Given the description of an element on the screen output the (x, y) to click on. 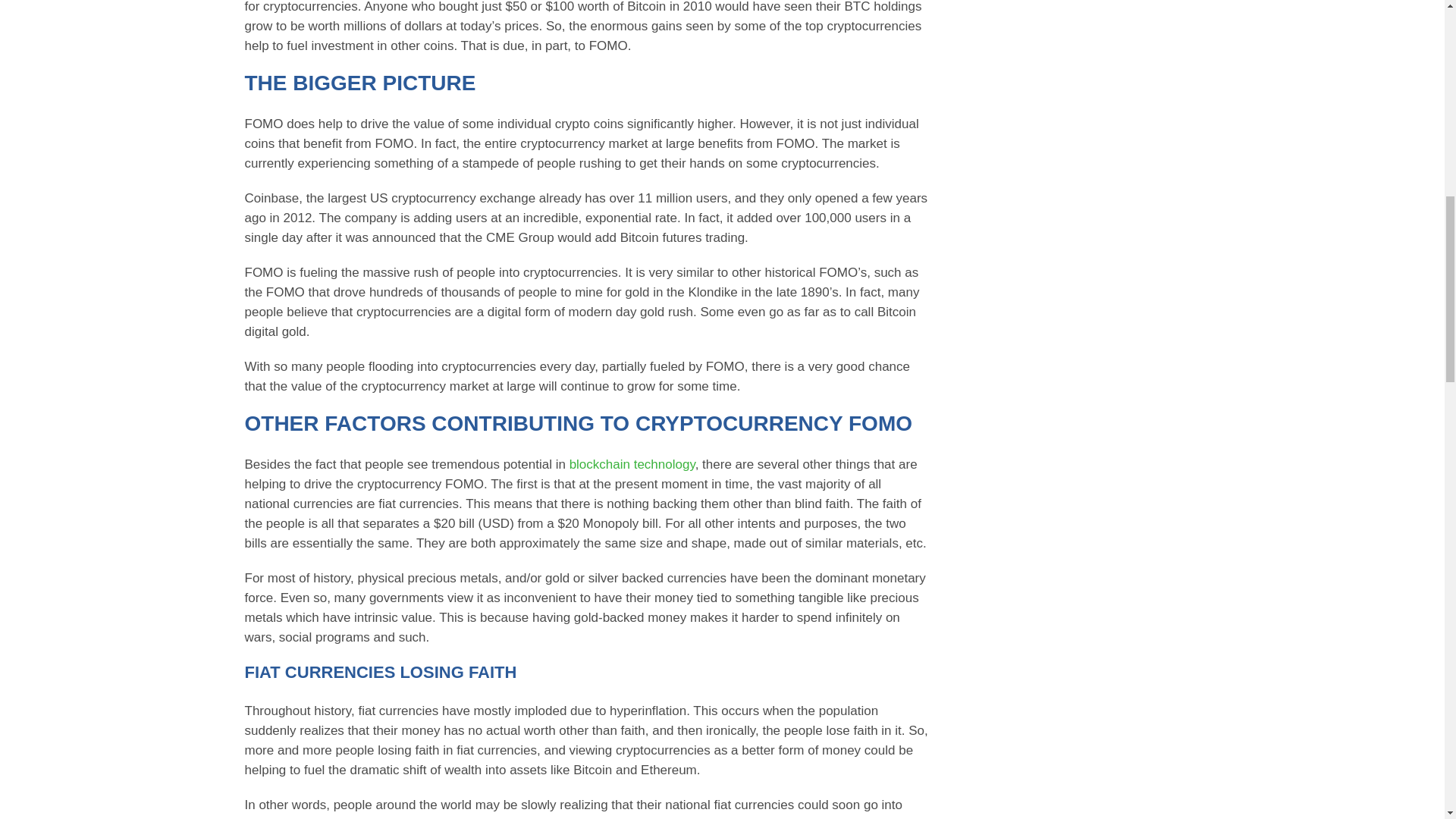
blockchain technology (632, 464)
